Given the description of an element on the screen output the (x, y) to click on. 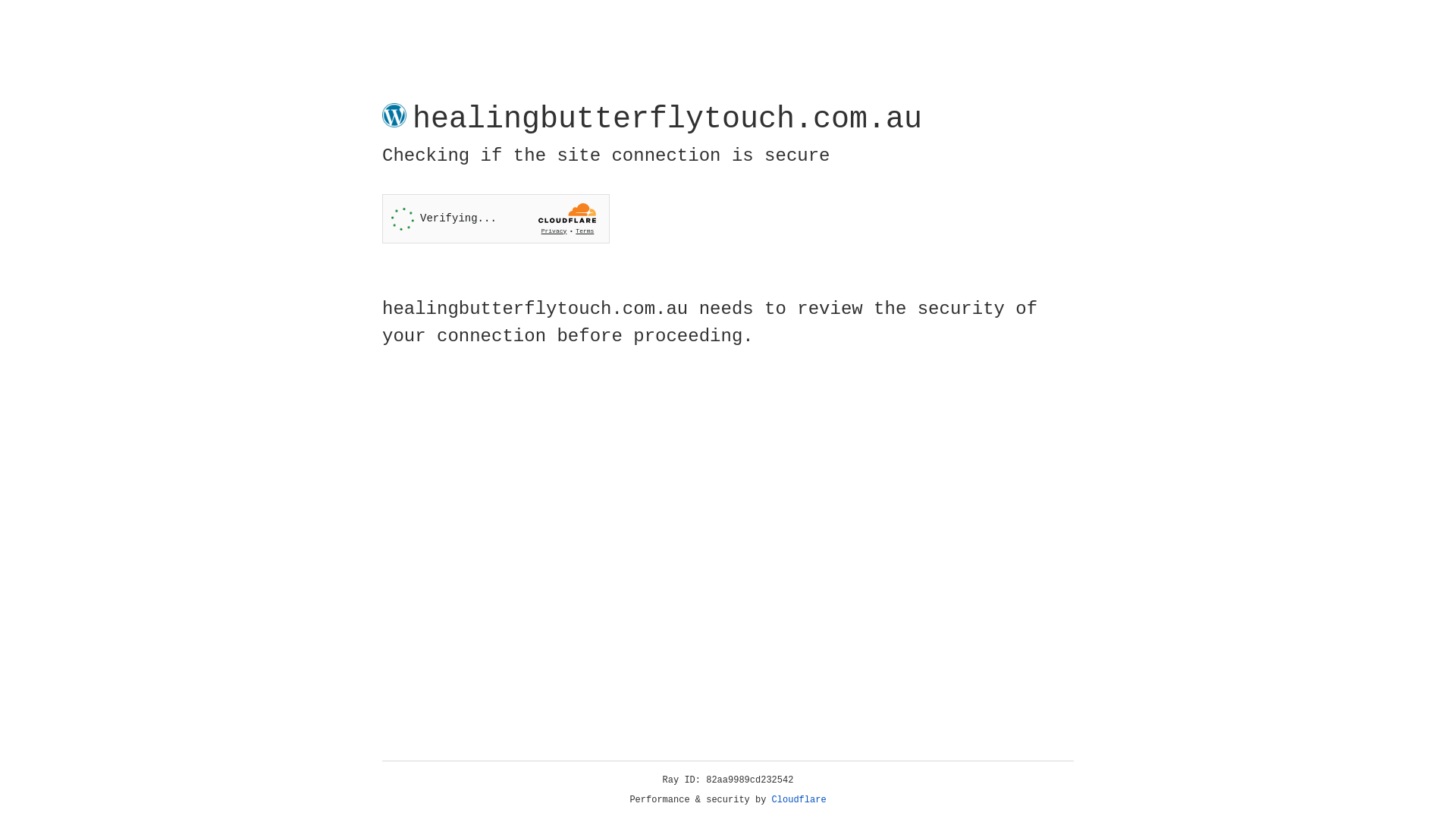
Widget containing a Cloudflare security challenge Element type: hover (495, 218)
Cloudflare Element type: text (798, 799)
